Given the description of an element on the screen output the (x, y) to click on. 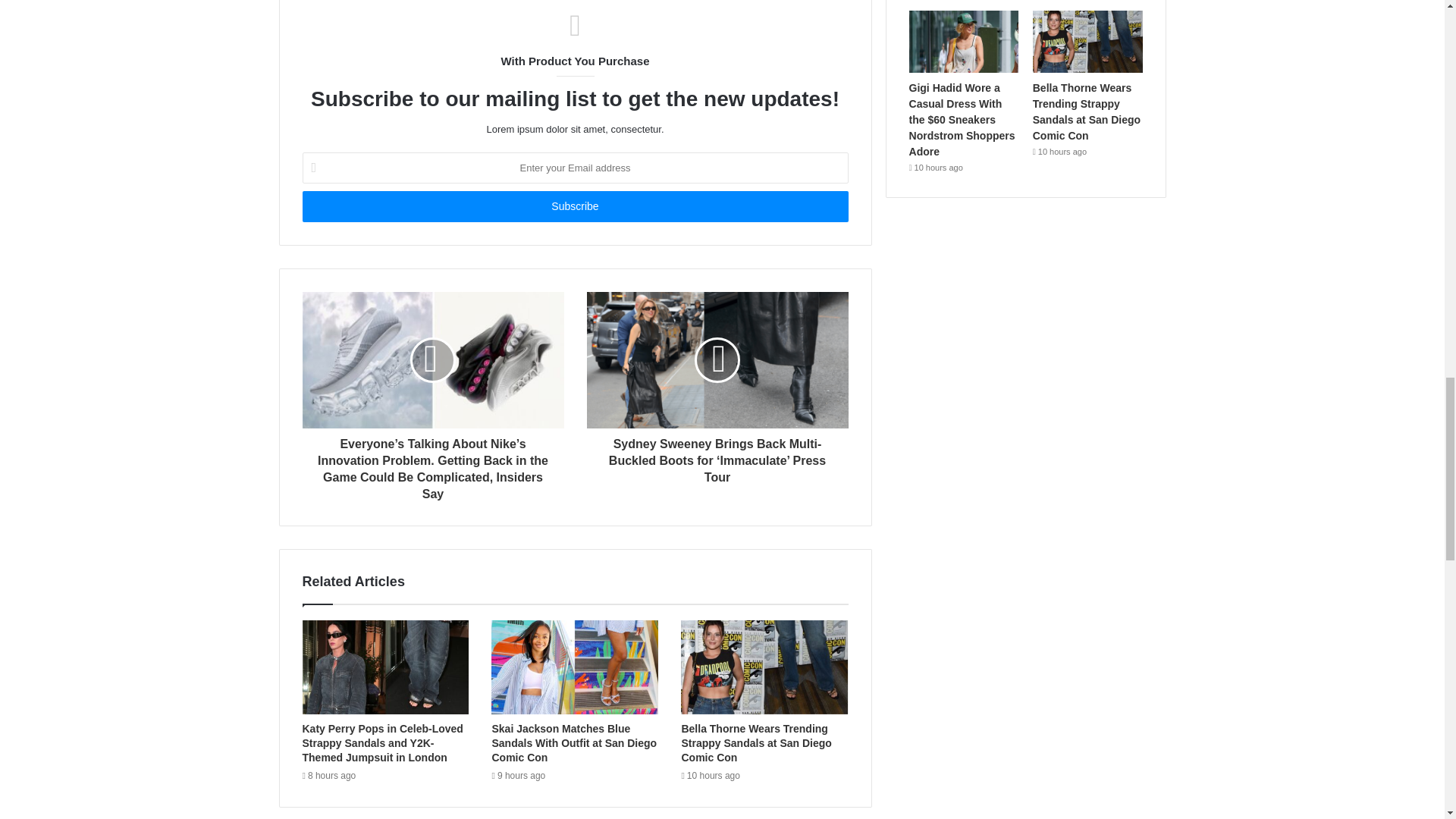
Subscribe (574, 205)
